Given the description of an element on the screen output the (x, y) to click on. 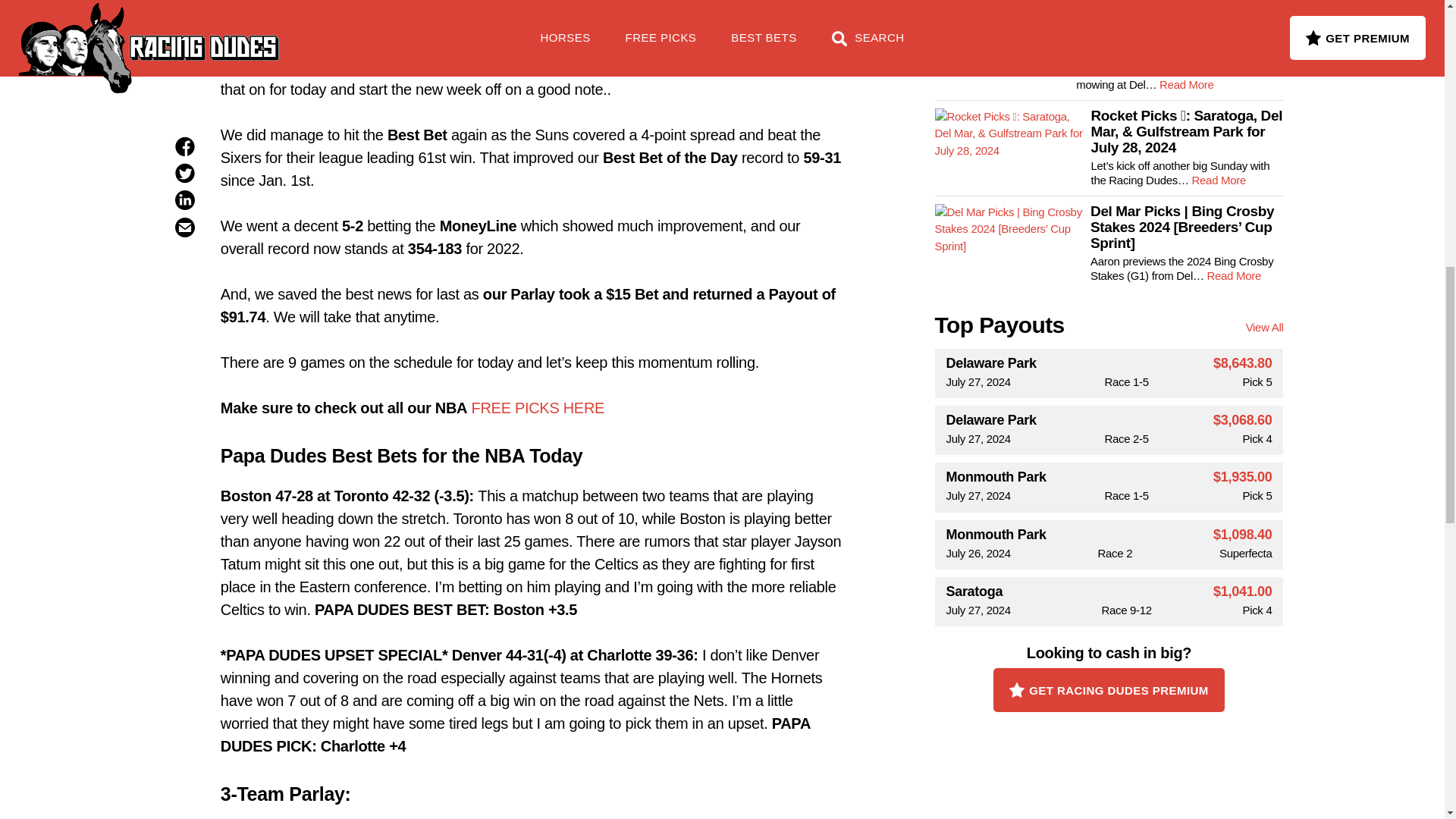
Posts by Mike Halterman (541, 4)
